Given the description of an element on the screen output the (x, y) to click on. 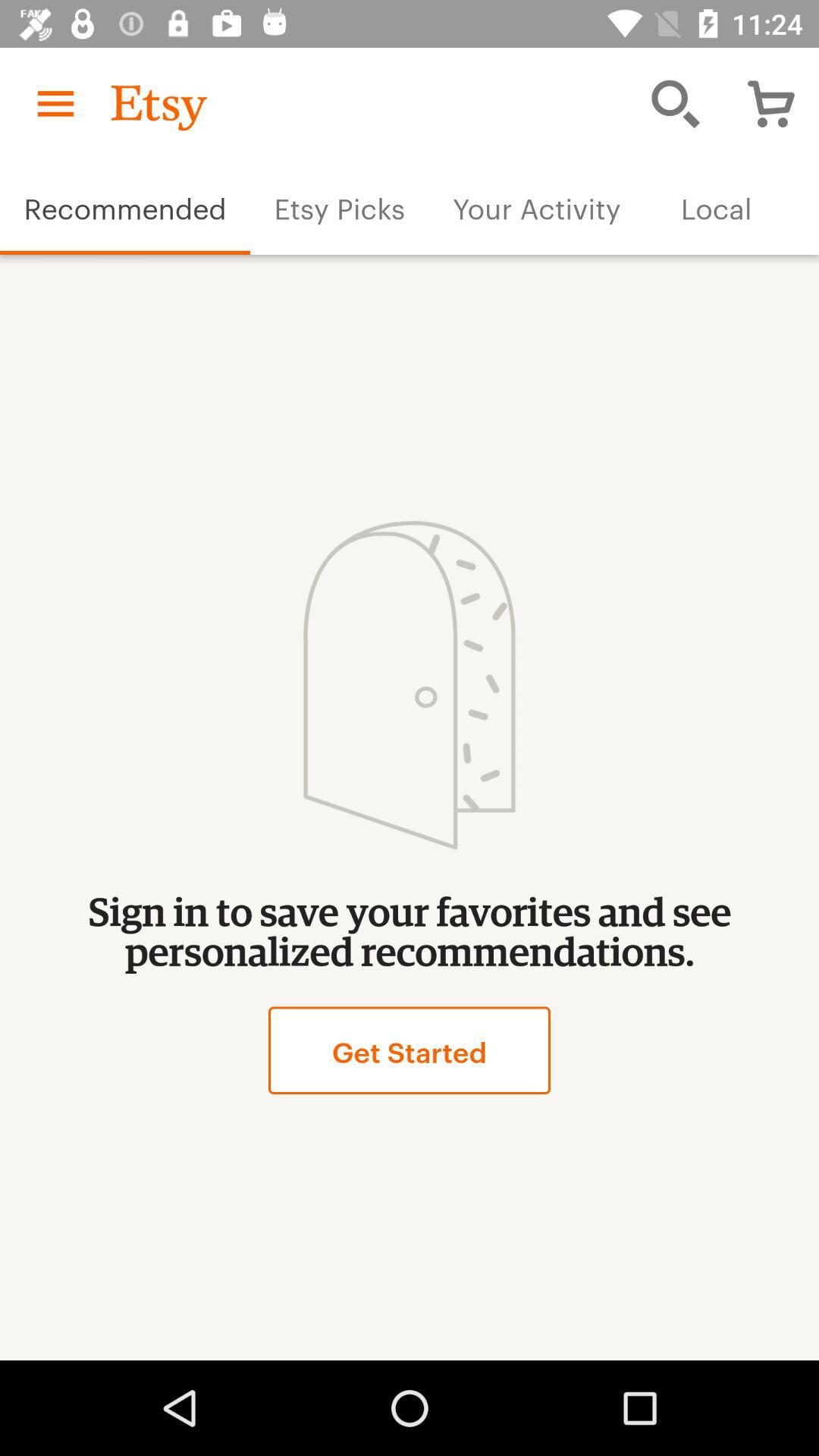
open the item above the recommended (55, 103)
